Given the description of an element on the screen output the (x, y) to click on. 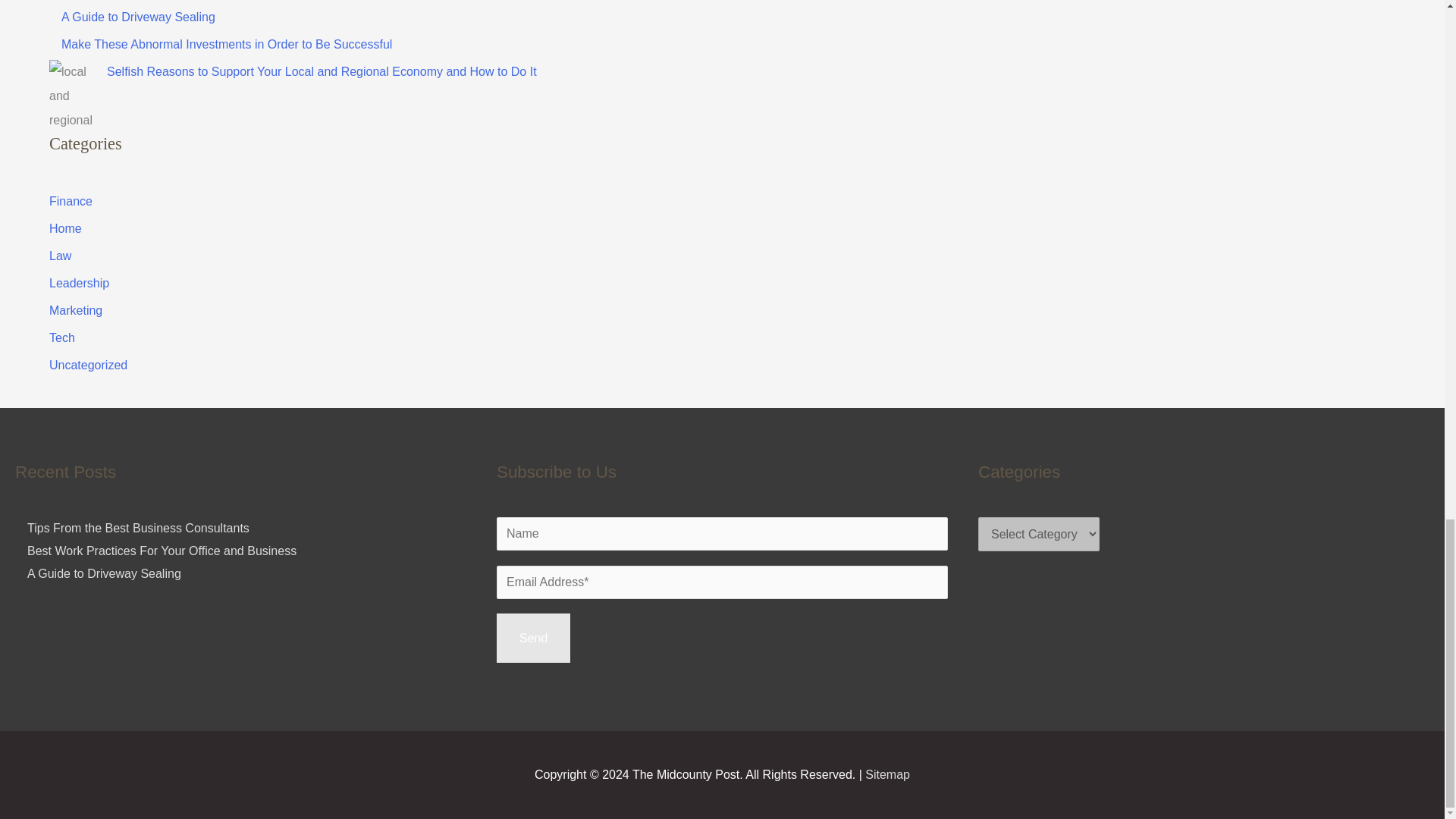
Law (60, 255)
Send (533, 638)
Tech (62, 337)
Tips From the Best Business Consultants (137, 527)
A Guide to Driveway Sealing (138, 16)
Marketing (75, 309)
Home (65, 228)
Finance (71, 201)
Send (533, 638)
Sitemap (887, 774)
Leadership (79, 282)
A Guide to Driveway Sealing (103, 573)
Uncategorized (88, 364)
Best Work Practices For Your Office and Business (162, 550)
